Given the description of an element on the screen output the (x, y) to click on. 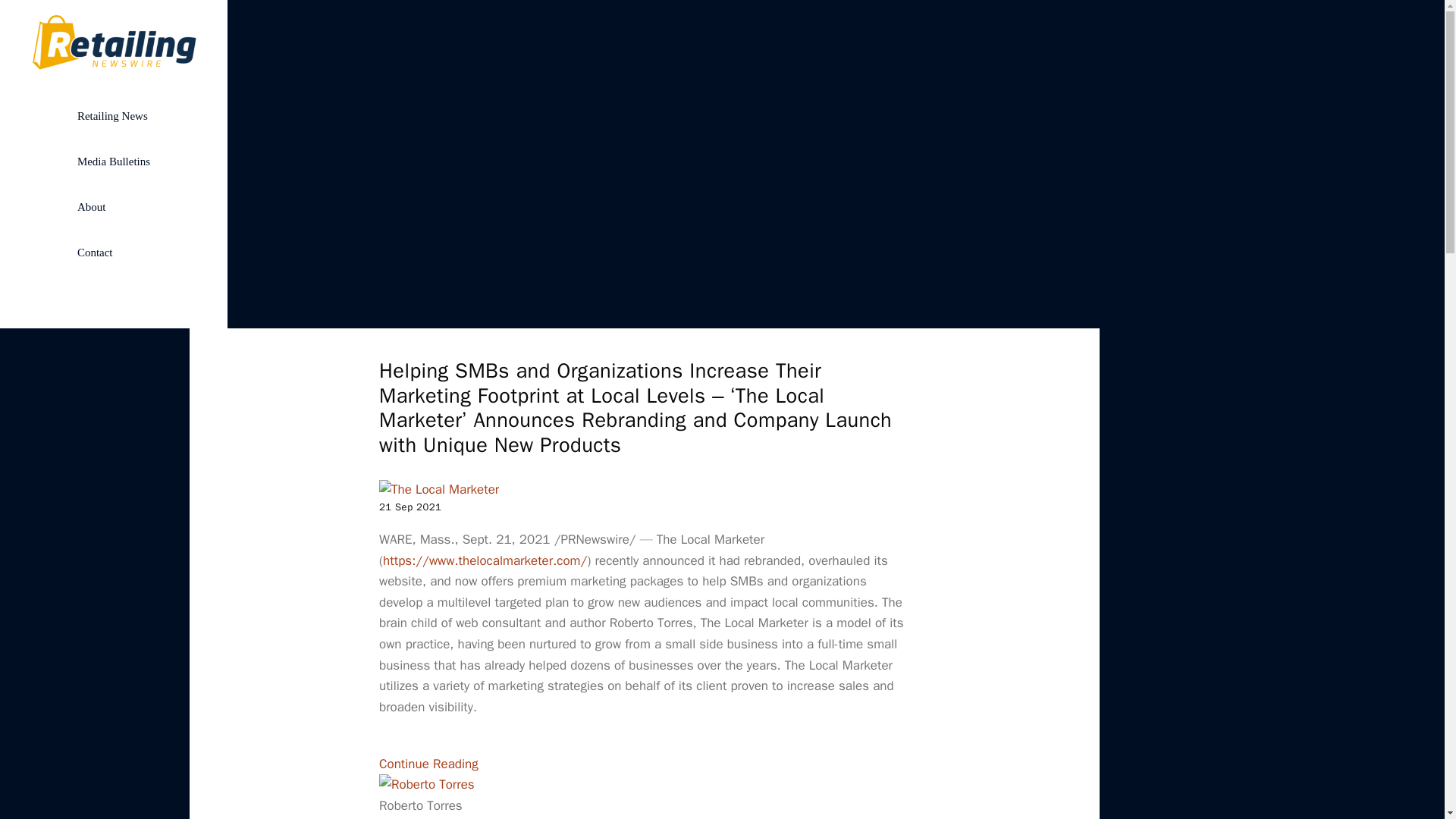
Roberto Torres (426, 784)
Continue Reading (428, 763)
Media Bulletins (113, 161)
Continue Reading (428, 763)
Contact (113, 252)
About (113, 207)
Retailing News (113, 115)
The Local Marketer (438, 489)
